Given the description of an element on the screen output the (x, y) to click on. 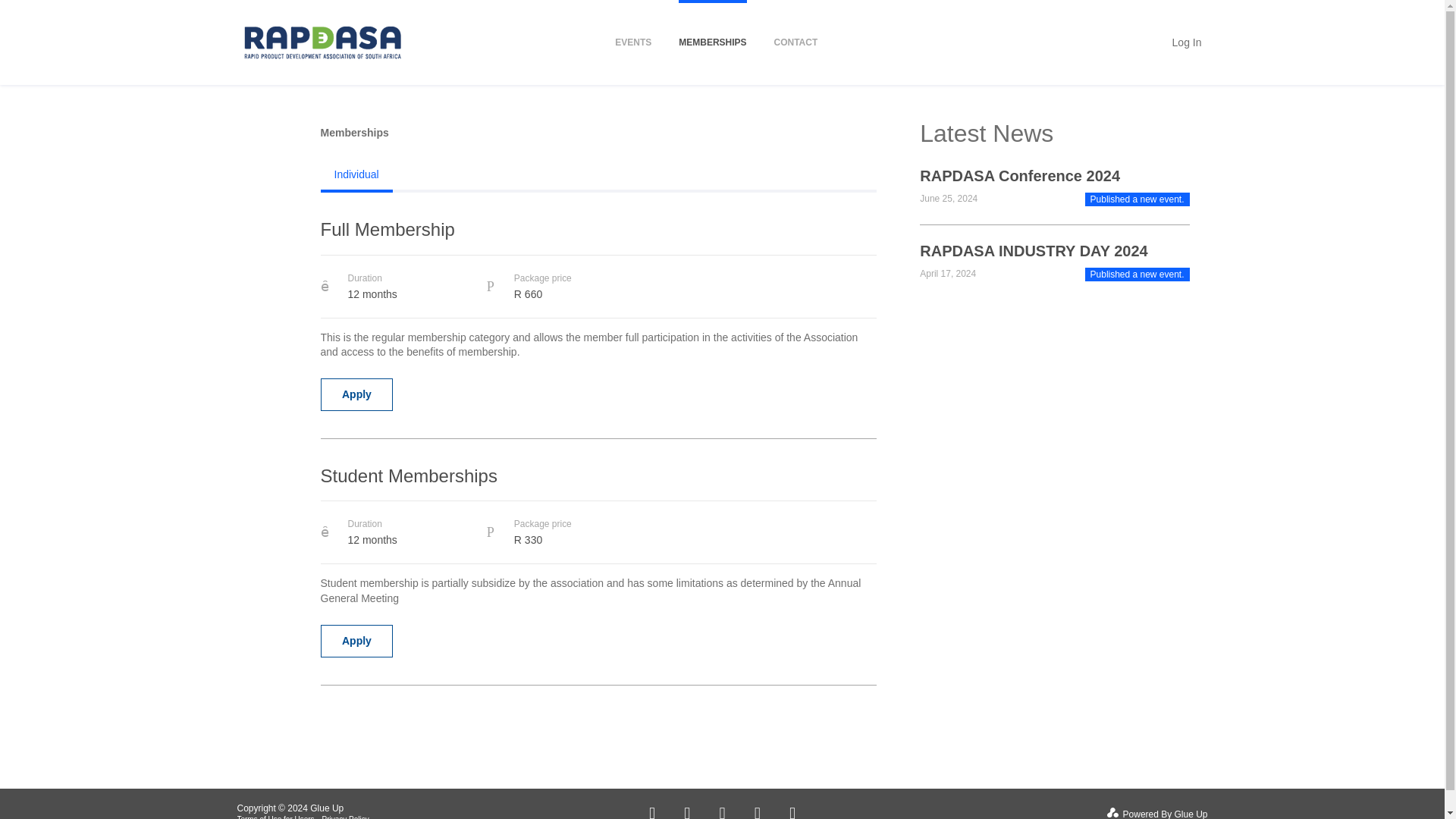
RAPDASA INDUSTRY DAY 2024 (1033, 250)
Student Memberships (598, 482)
Apply (356, 394)
Privacy Policy (345, 816)
RAPDASA Conference 2024 (1019, 175)
Terms of Use for Users (274, 816)
Apply (356, 640)
Individual (355, 173)
